Given the description of an element on the screen output the (x, y) to click on. 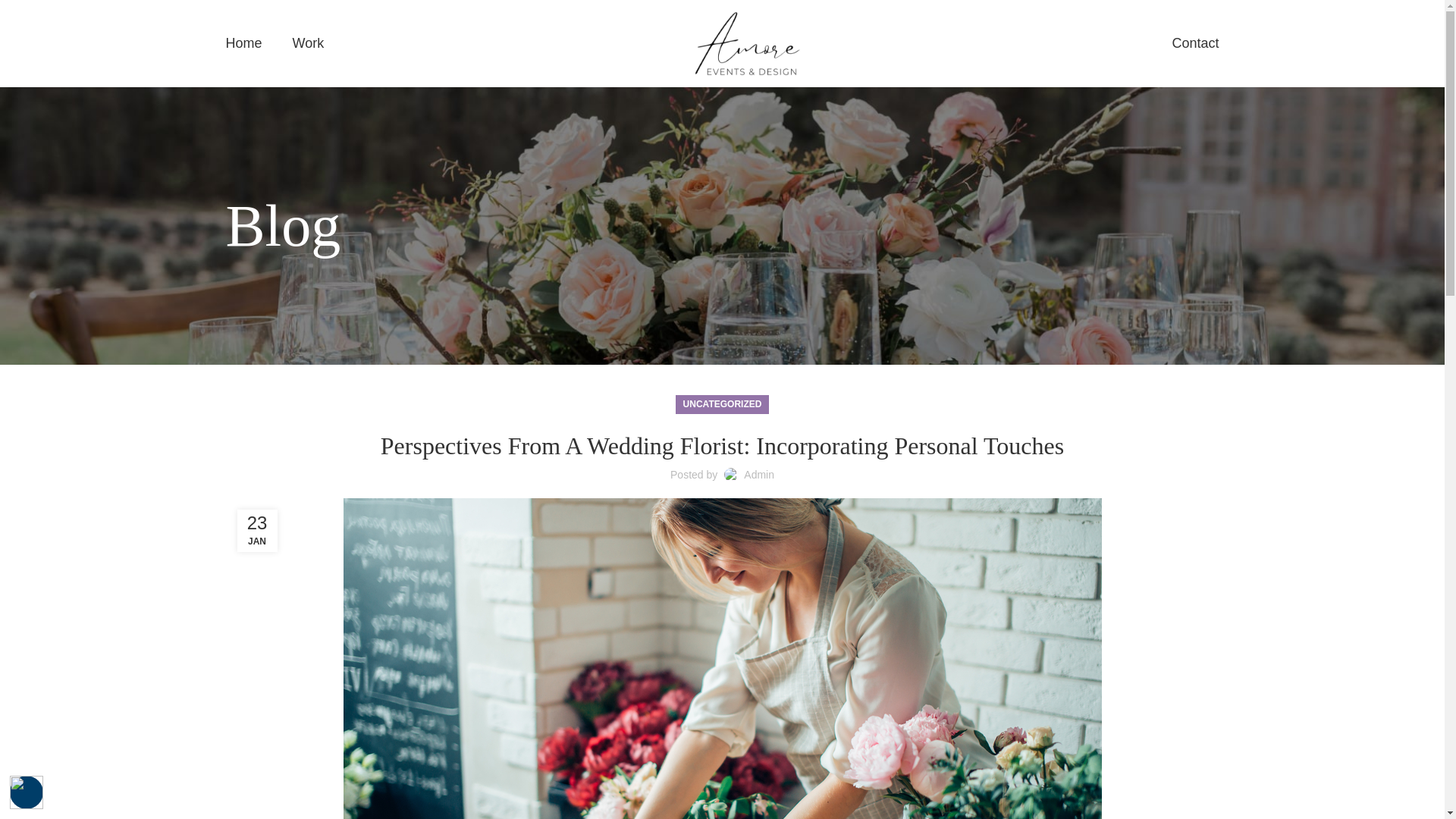
Work (308, 43)
Contact (1195, 43)
Accessibility Menu (26, 792)
Admin (759, 474)
Home (243, 43)
UNCATEGORIZED (721, 404)
